Given the description of an element on the screen output the (x, y) to click on. 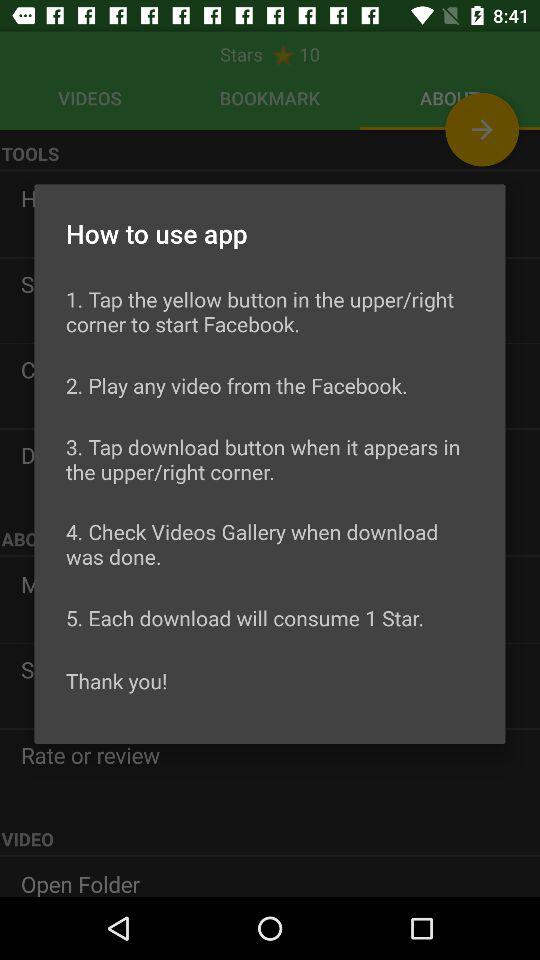
choose the 4 check videos icon (269, 543)
